Given the description of an element on the screen output the (x, y) to click on. 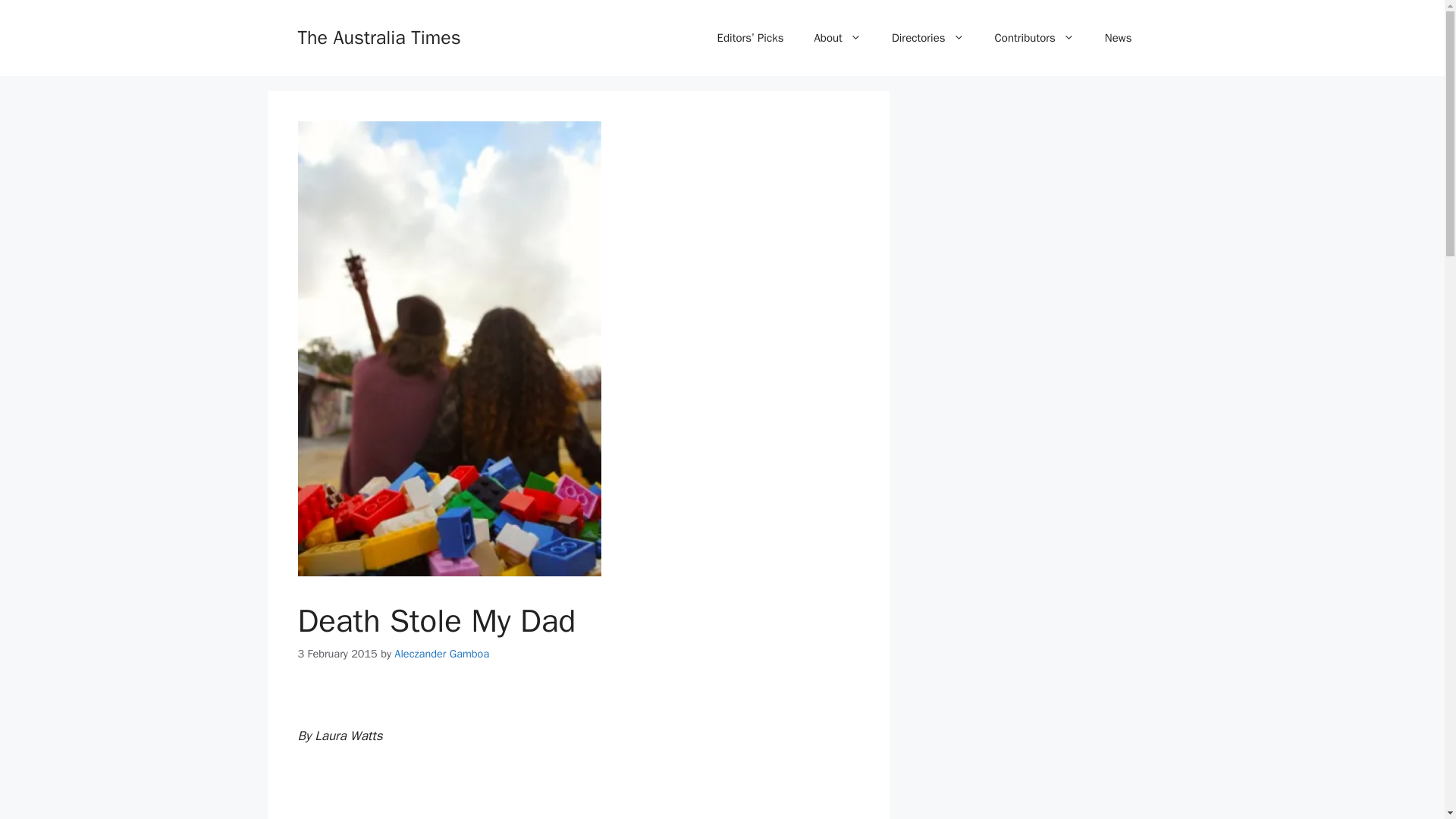
About (836, 37)
Directories (927, 37)
Contributors (1034, 37)
Aleczander Gamboa (441, 653)
News (1118, 37)
Advertisement (578, 791)
View all posts by Aleczander Gamboa (441, 653)
The Australia Times (378, 37)
